Given the description of an element on the screen output the (x, y) to click on. 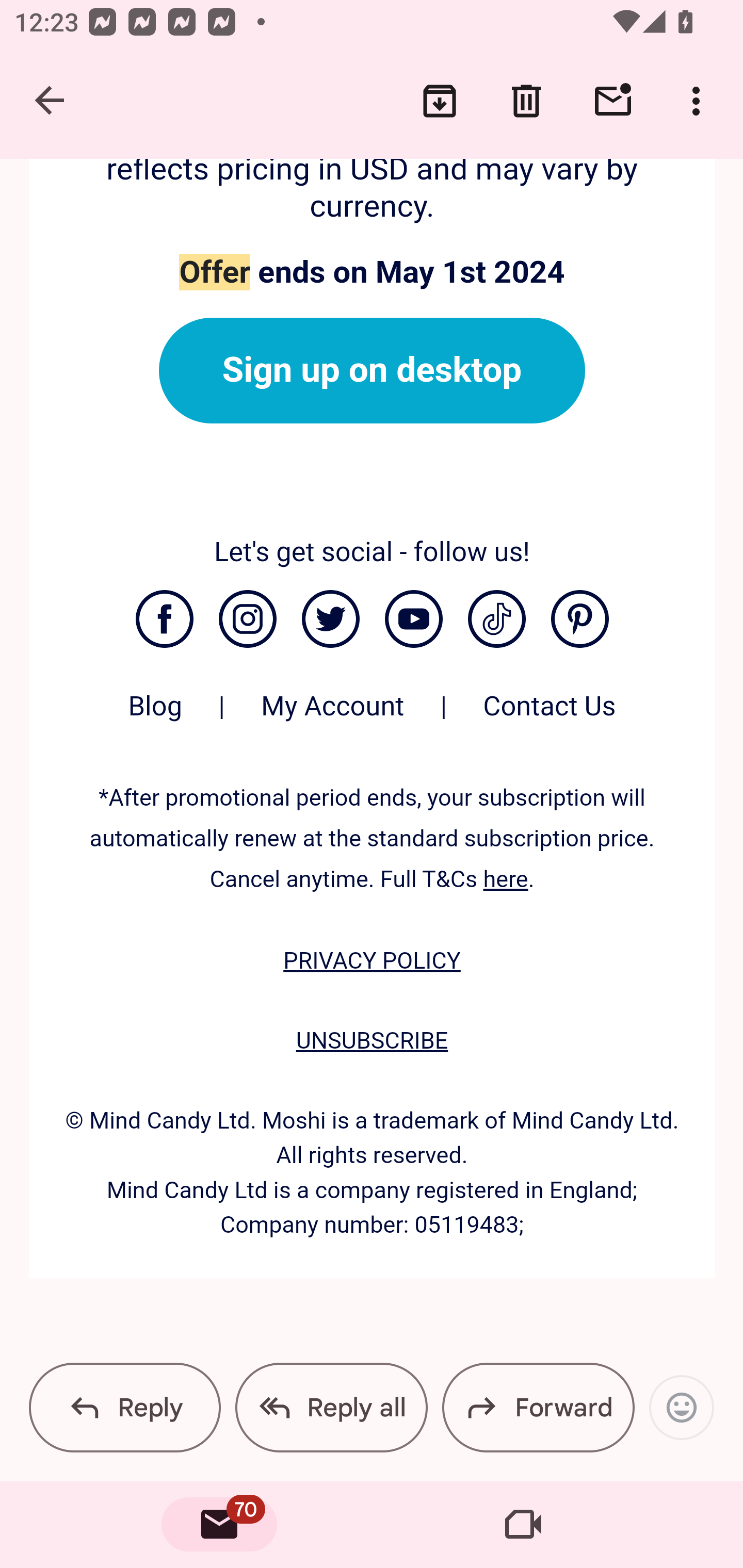
Navigate up (50, 101)
Archive (439, 101)
Delete (525, 101)
Mark unread (612, 101)
More options (699, 101)
Sign up on desktop (372, 370)
Facebook (163, 619)
Instagram (246, 619)
Twitter (330, 619)
YouTube (413, 619)
Custom (496, 619)
Pinterest (579, 619)
Blog (155, 715)
My Account (332, 715)
Contact Us (549, 715)
here (505, 878)
PRIVACY POLICY (371, 960)
UNSUBSCRIBE (371, 1040)
Reply (124, 1406)
Reply all (331, 1406)
Forward (538, 1406)
Add emoji reaction (681, 1407)
Meet (523, 1524)
